Given the description of an element on the screen output the (x, y) to click on. 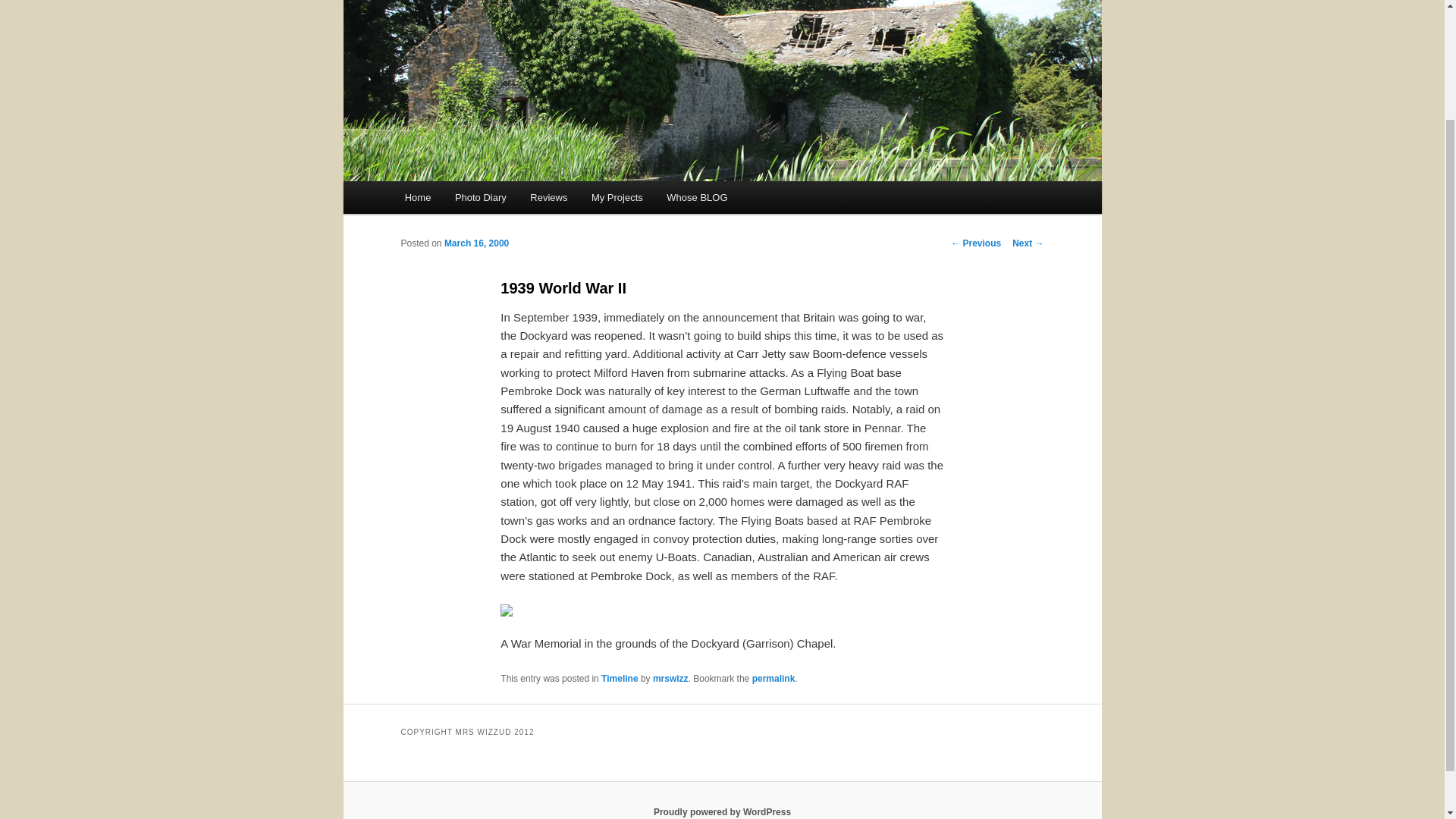
Reviews (548, 196)
Whose BLOG (697, 196)
World War II (506, 610)
Timeline (619, 678)
3:38 pm (476, 243)
Permalink to 1939 World War II (773, 678)
mrswizz (670, 678)
My Projects (616, 196)
Semantic Personal Publishing Platform (721, 811)
Proudly powered by WordPress (721, 811)
